Given the description of an element on the screen output the (x, y) to click on. 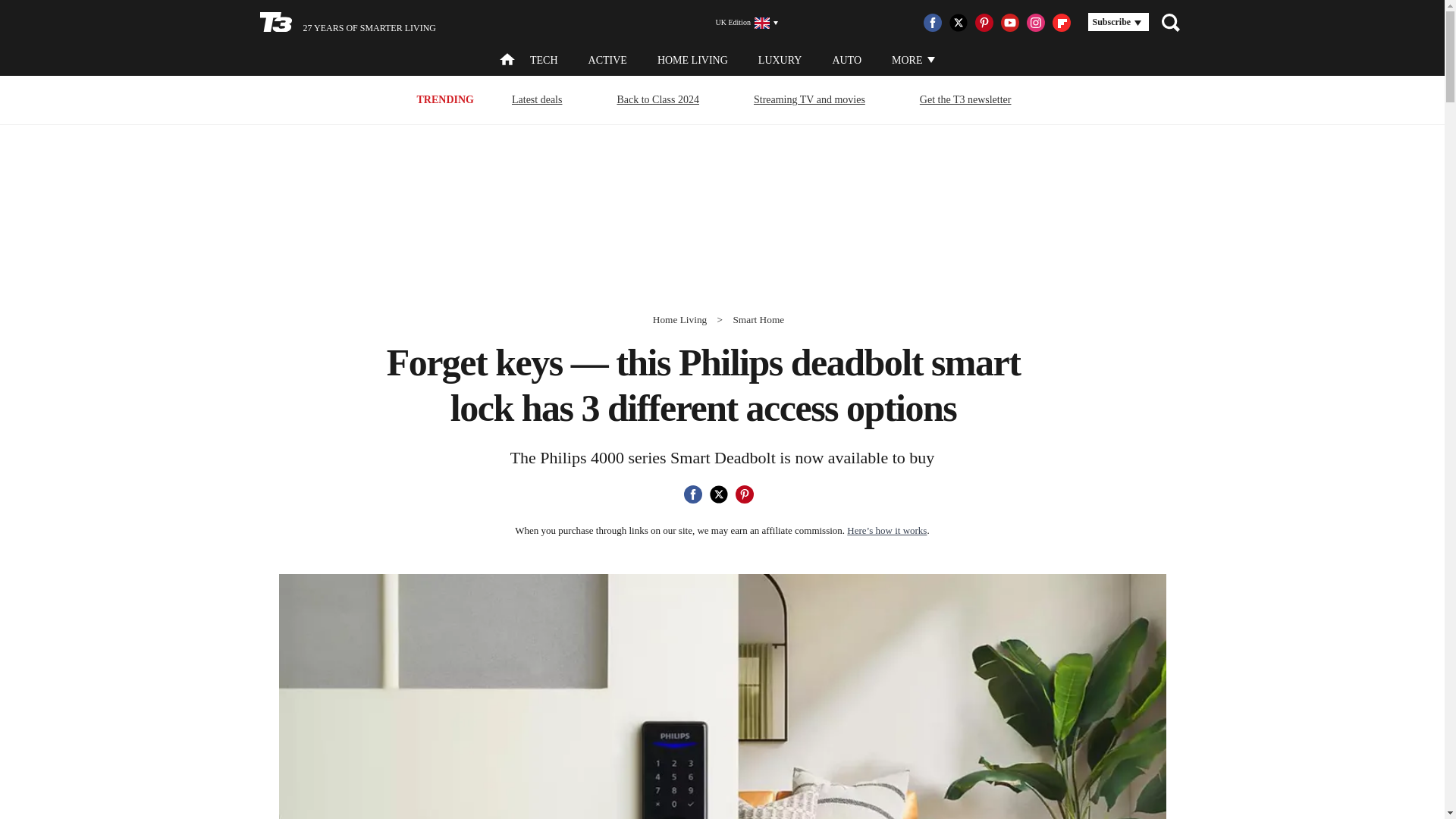
AUTO (846, 60)
LUXURY (780, 60)
TECH (543, 60)
Latest deals (536, 99)
Back to Class 2024 (657, 99)
HOME LIVING (693, 60)
UK Edition (740, 22)
Streaming TV and movies (809, 99)
ACTIVE (607, 60)
27 YEARS OF SMARTER LIVING (347, 23)
